Given the description of an element on the screen output the (x, y) to click on. 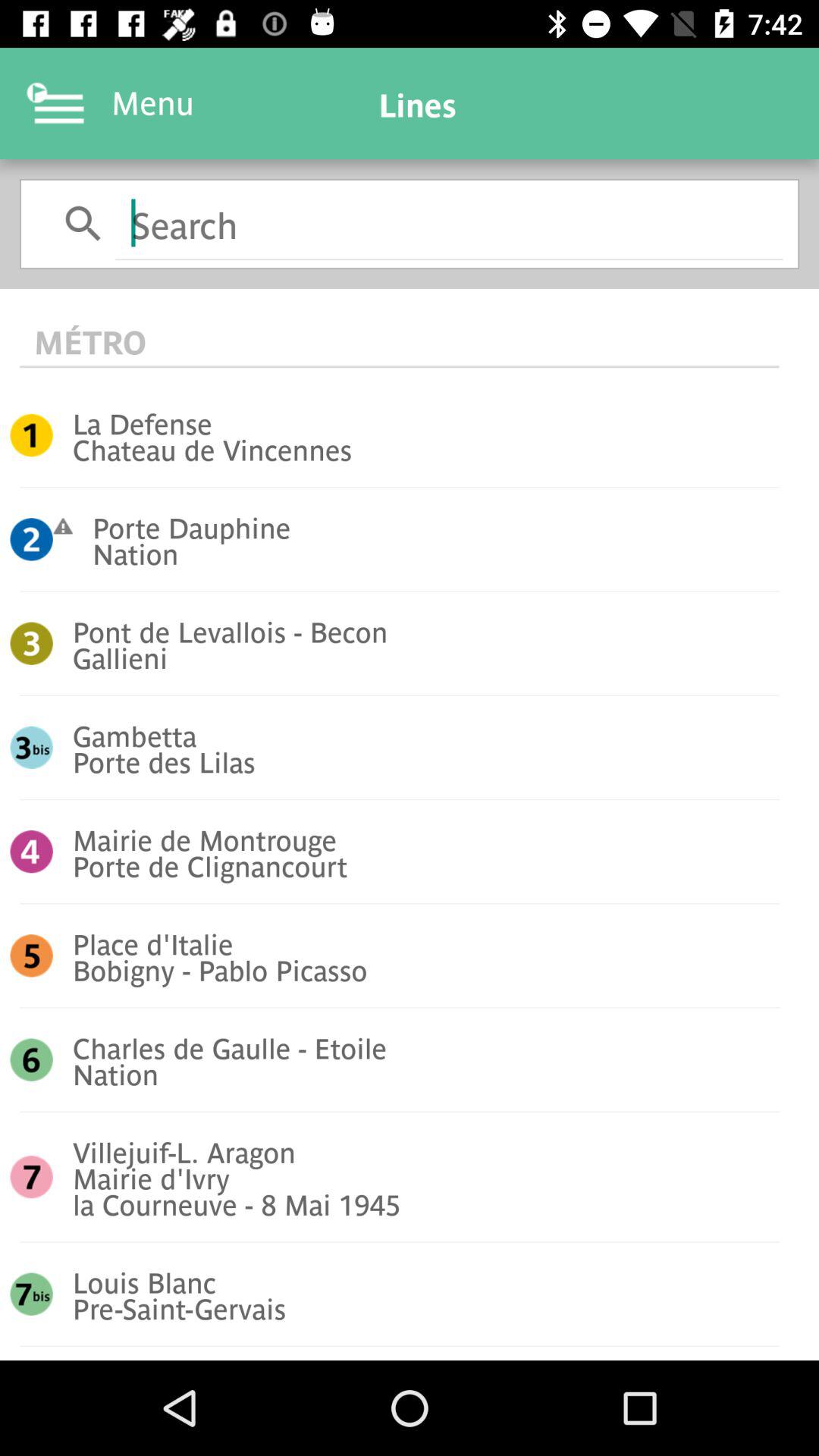
search text input (449, 222)
